Given the description of an element on the screen output the (x, y) to click on. 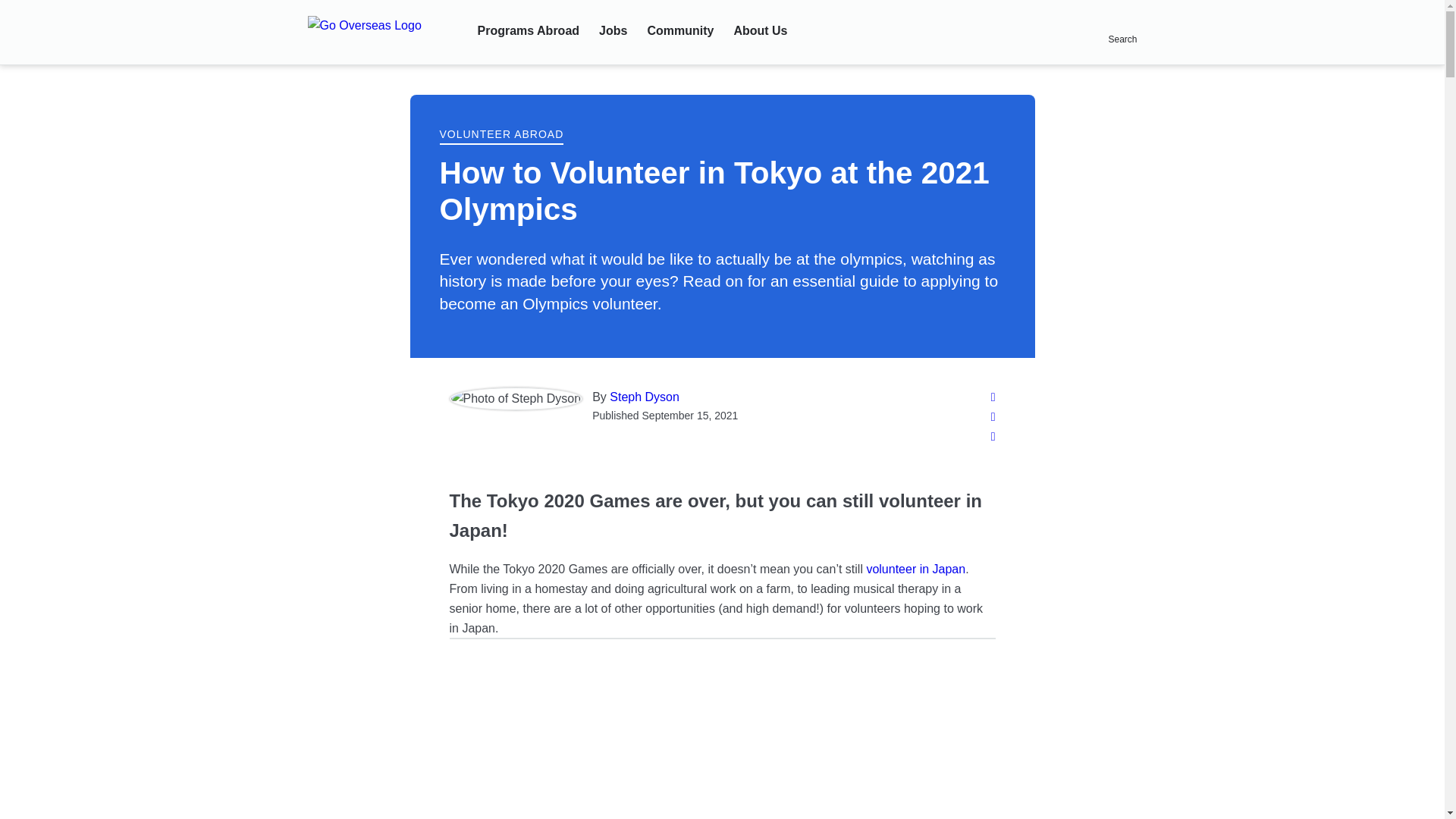
Go Overseas Home (382, 32)
Steph Dyson (644, 396)
VOLUNTEER ABROAD (501, 135)
volunteer in Japan (915, 568)
